Given the description of an element on the screen output the (x, y) to click on. 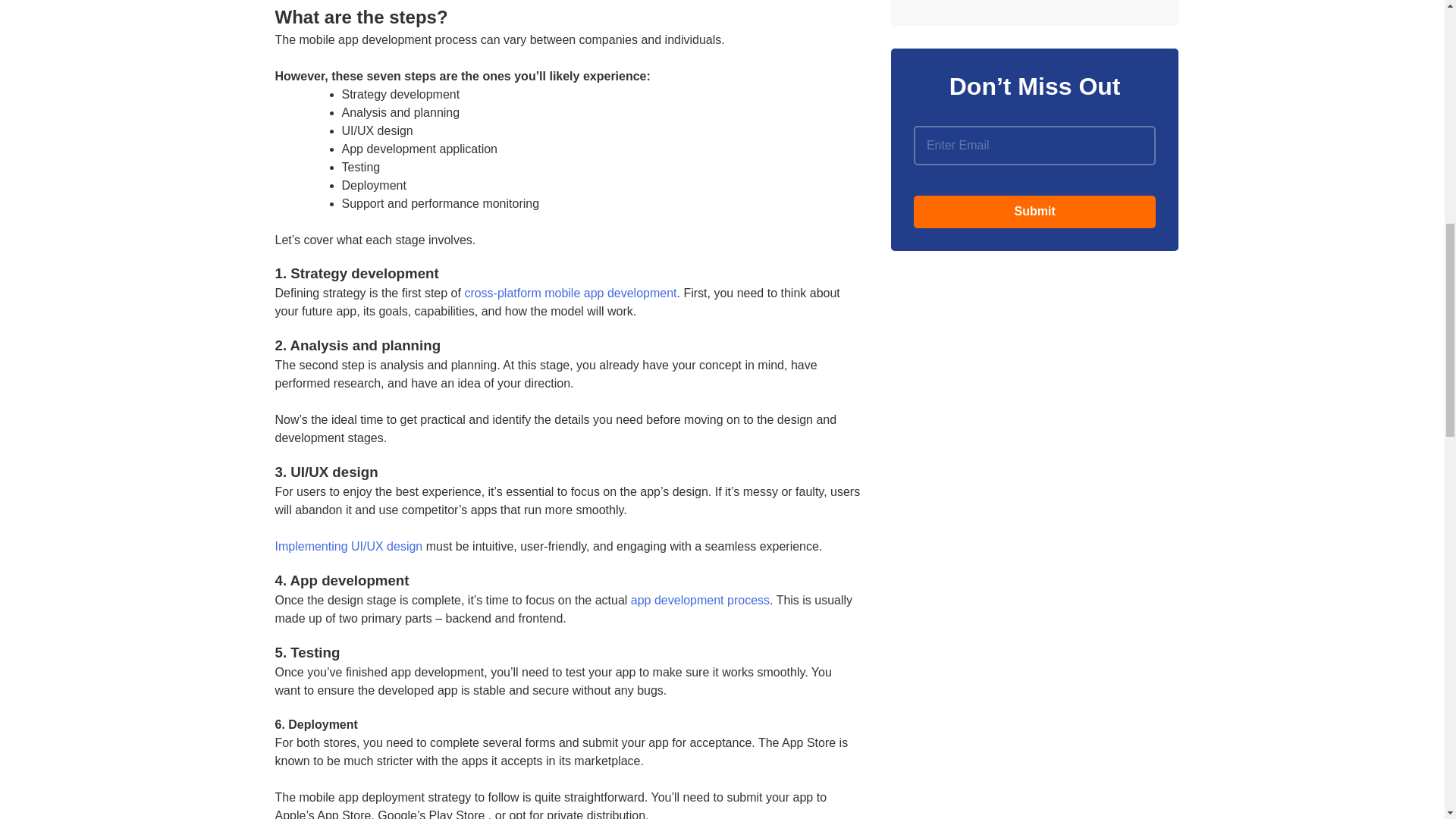
Submit (1035, 211)
